Given the description of an element on the screen output the (x, y) to click on. 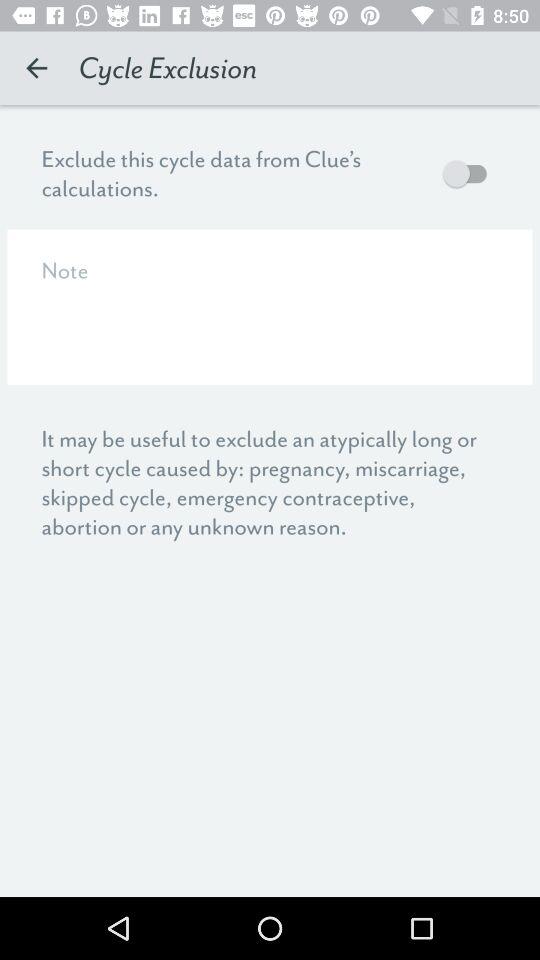
toggle data exclusion for this cycle (469, 173)
